Given the description of an element on the screen output the (x, y) to click on. 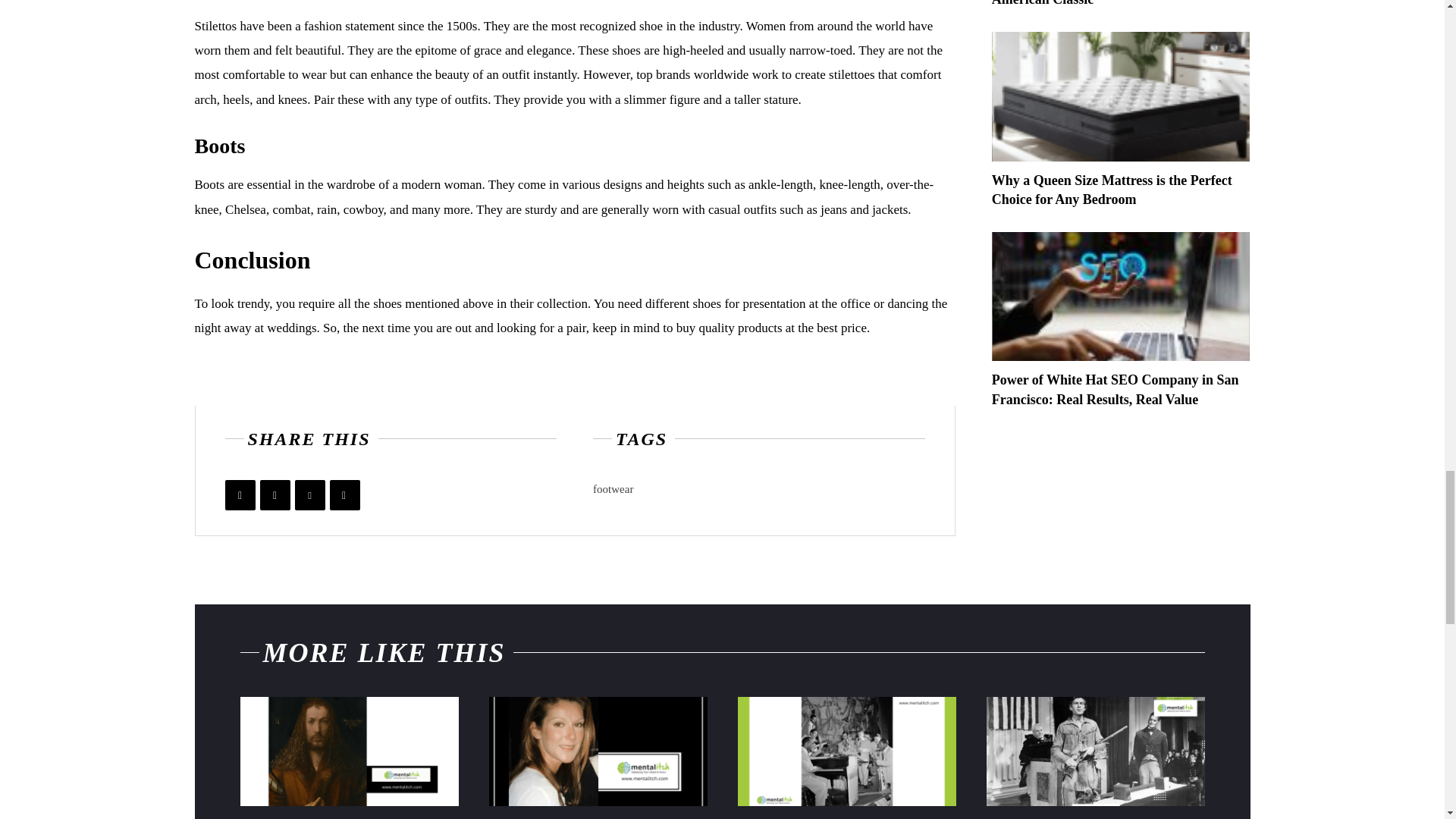
Facebook (239, 494)
Twitter (274, 494)
Pinterest (309, 494)
Mix (344, 494)
